Given the description of an element on the screen output the (x, y) to click on. 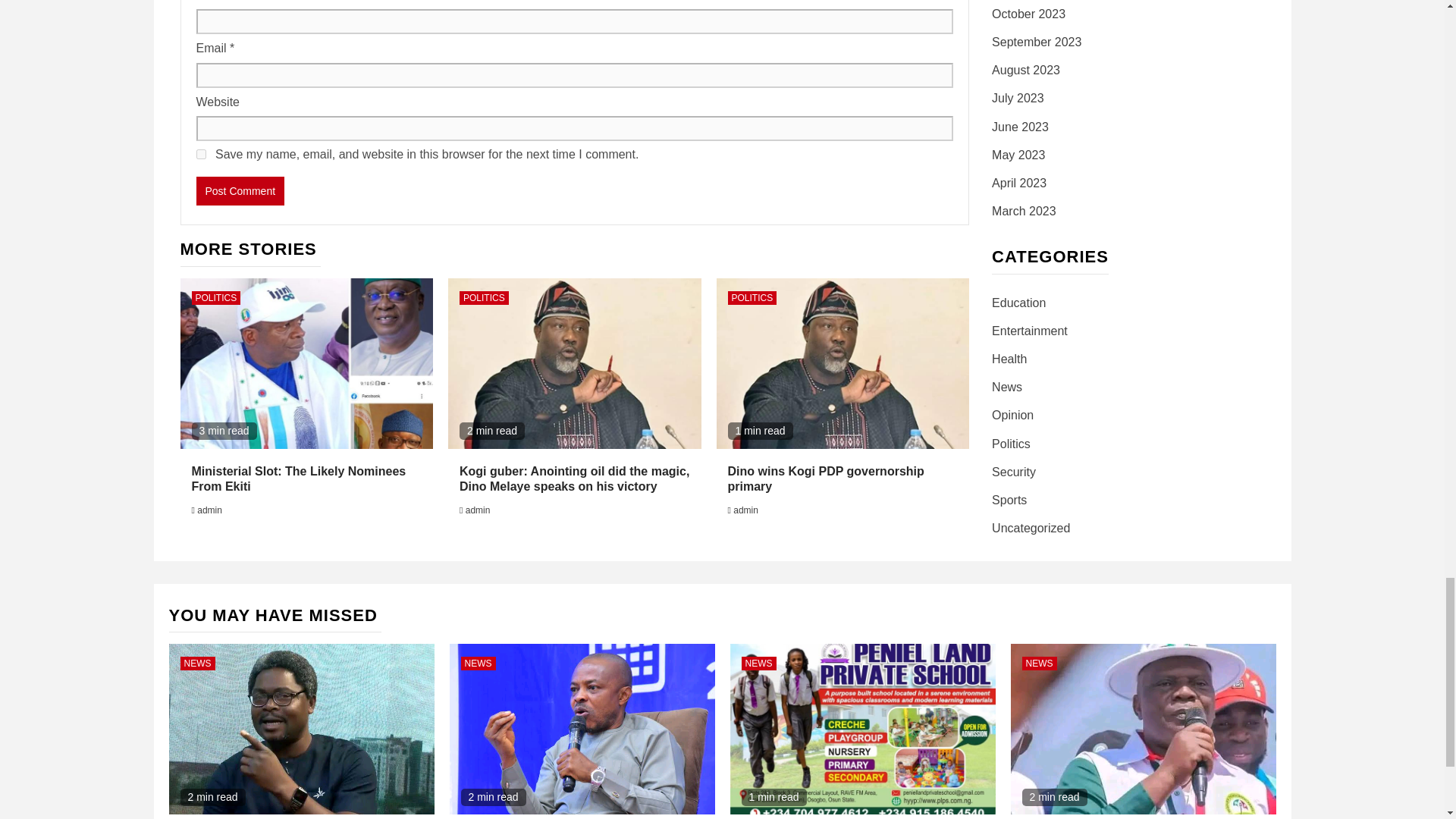
Post Comment (239, 190)
POLITICS (215, 297)
POLITICS (484, 297)
Post Comment (239, 190)
yes (200, 153)
Ministerial Slot: The Likely Nominees From Ekiti (298, 479)
admin (477, 510)
Dino wins Kogi PDP governorship primary (826, 479)
admin (745, 510)
